Given the description of an element on the screen output the (x, y) to click on. 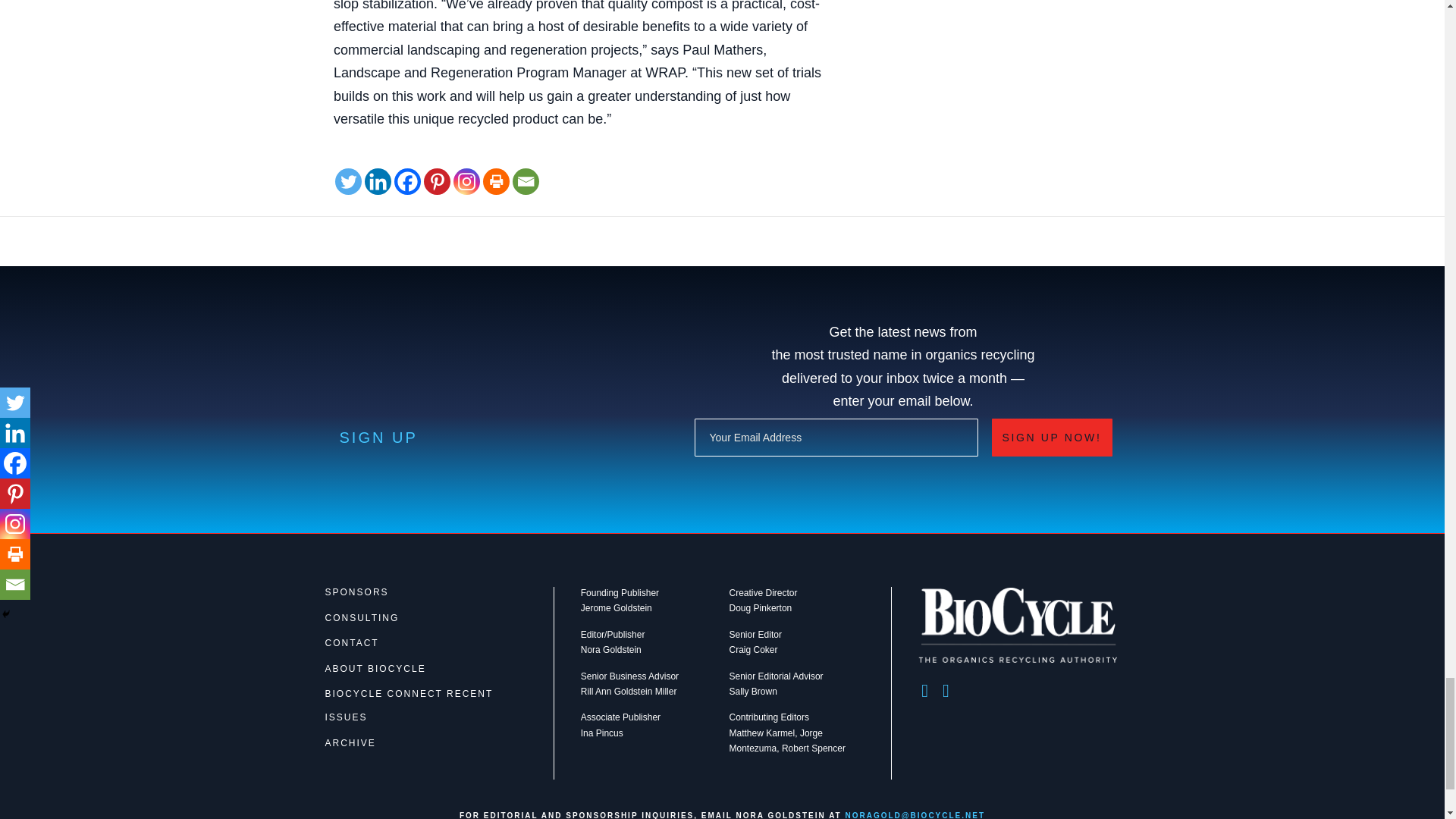
Print (496, 181)
Instagram (466, 181)
Linkedin (378, 181)
Email (525, 181)
Facebook (407, 181)
Twitter (347, 181)
Sign Up Now! (1051, 437)
Pinterest (436, 181)
